Given the description of an element on the screen output the (x, y) to click on. 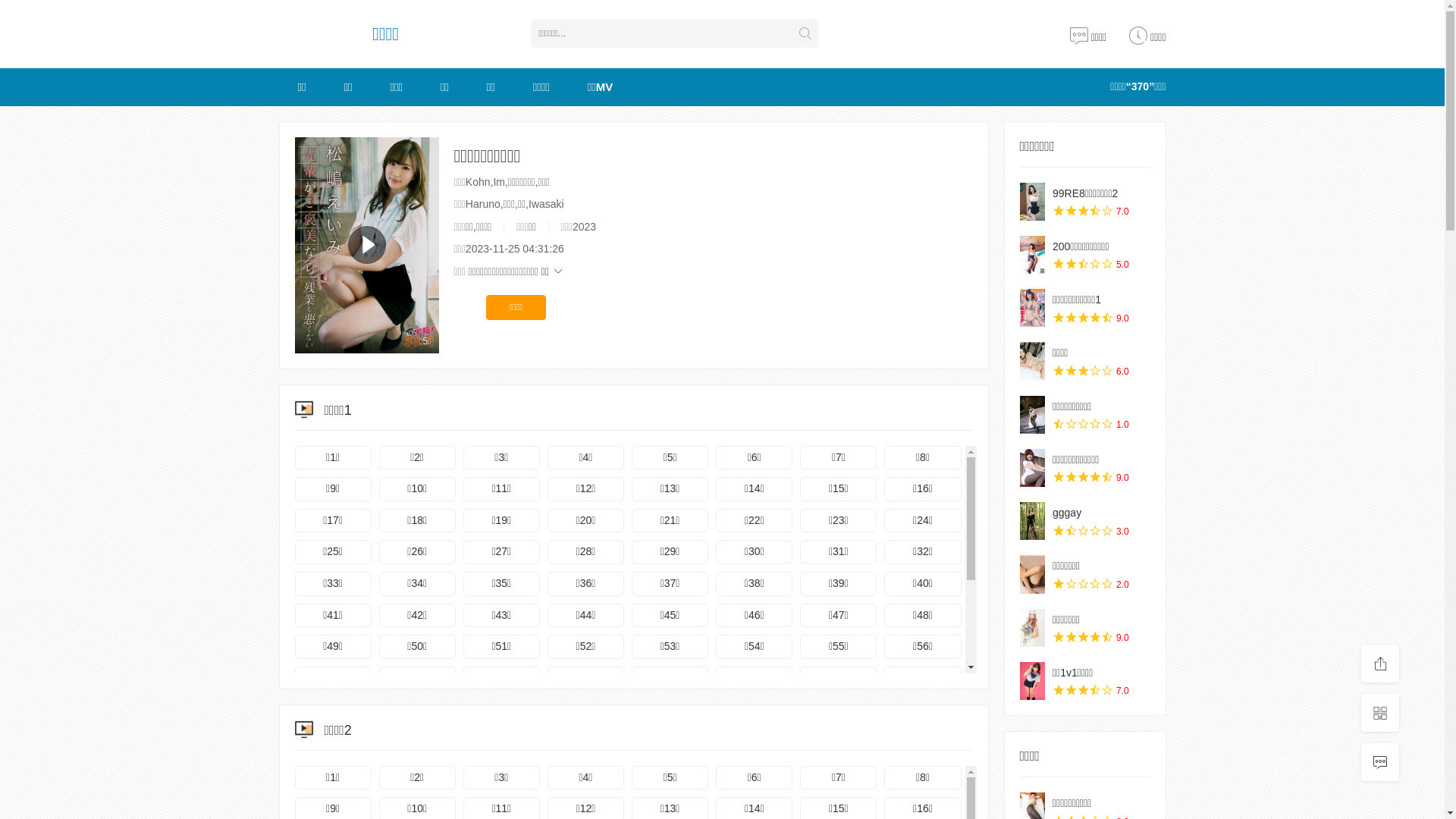
gggay Element type: hover (1031, 520)
gggay Element type: text (1066, 512)
